Given the description of an element on the screen output the (x, y) to click on. 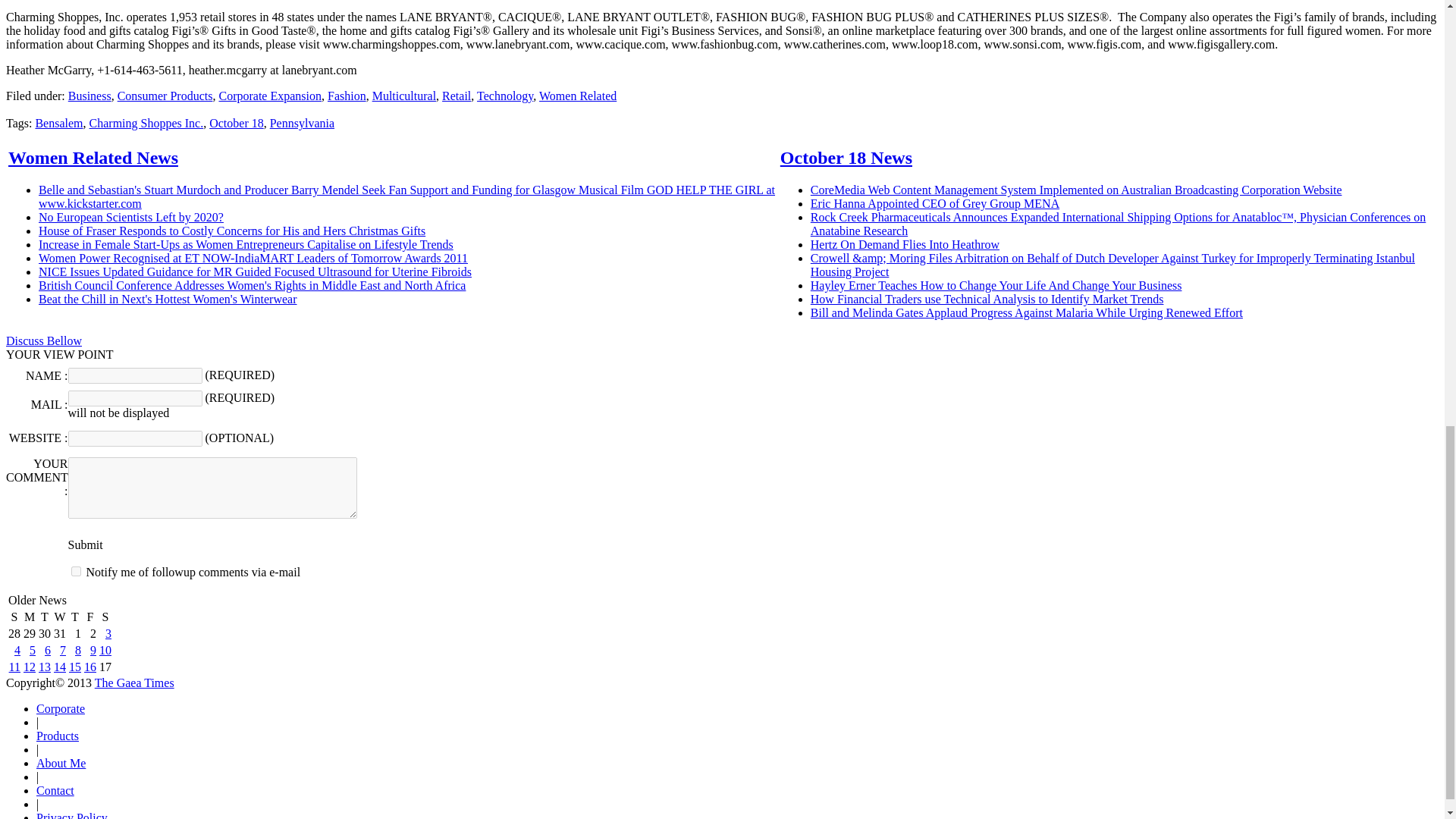
Technology (504, 95)
Women Related (576, 95)
subscribe (76, 571)
Business (90, 95)
Fashion (346, 95)
Retail (456, 95)
Multicultural (403, 95)
Consumer Products (164, 95)
Corporate Expansion (269, 95)
